Given the description of an element on the screen output the (x, y) to click on. 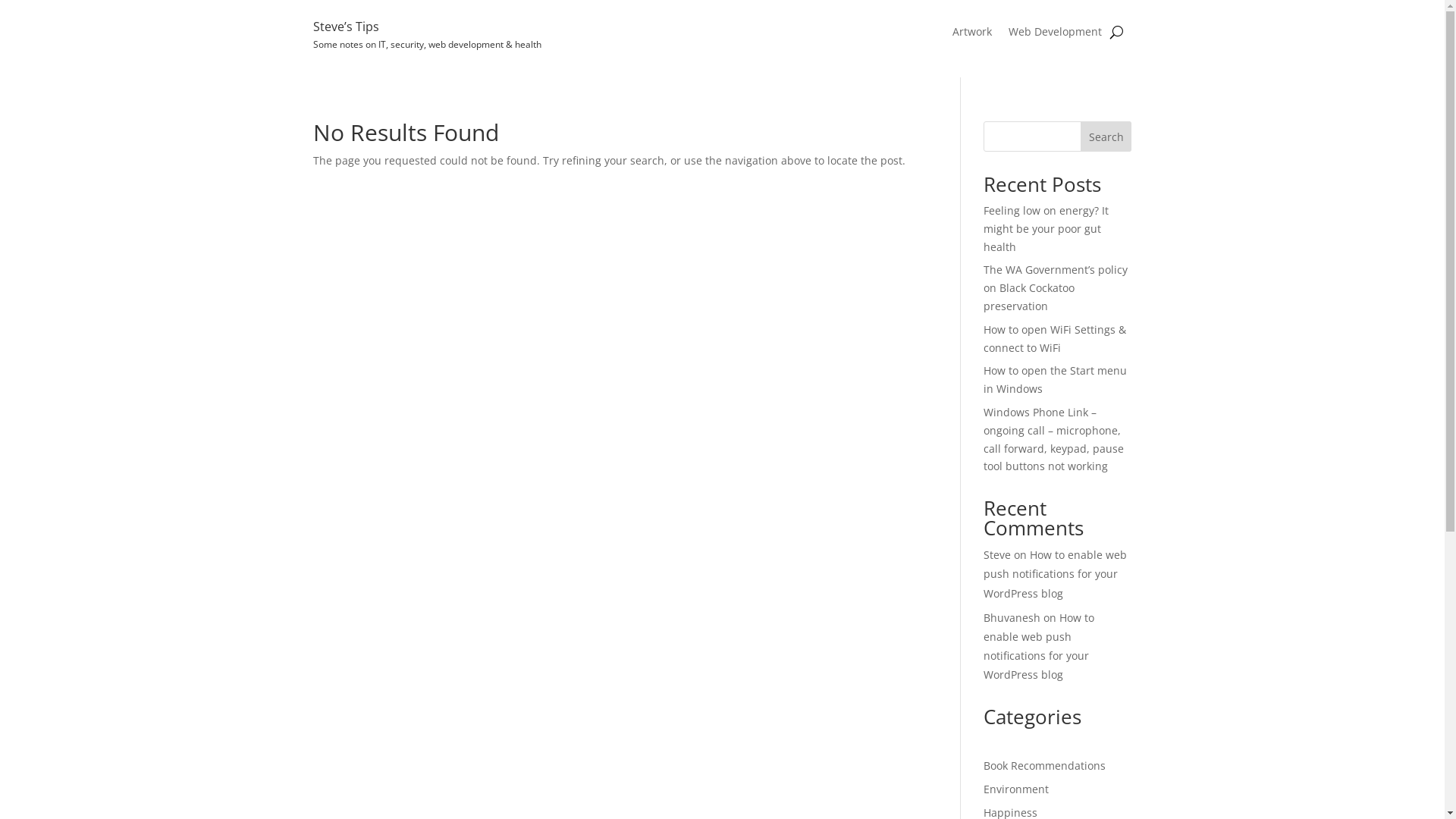
How to enable web push notifications for your WordPress blog Element type: text (1054, 573)
Bhuvanesh Element type: text (1011, 617)
Web Development Element type: text (1054, 34)
How to open the Start menu in Windows Element type: text (1054, 379)
Book Recommendations Element type: text (1044, 765)
Feeling low on energy? It might be your poor gut health Element type: text (1045, 228)
Environment Element type: text (1015, 788)
Steve Element type: text (996, 554)
How to open WiFi Settings & connect to WiFi Element type: text (1054, 338)
How to enable web push notifications for your WordPress blog Element type: text (1038, 646)
Search Element type: text (1106, 136)
Artwork Element type: text (971, 34)
